Given the description of an element on the screen output the (x, y) to click on. 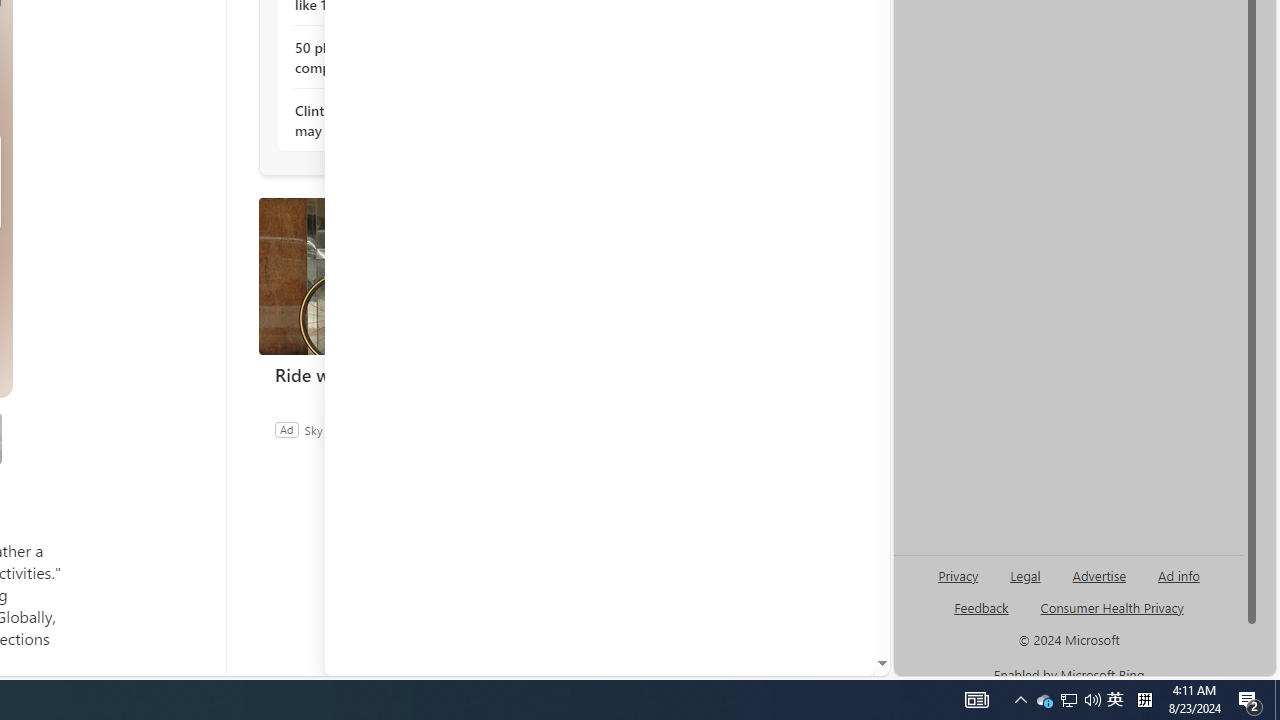
Sky Blue Bikes (341, 429)
Clint Eastwood: The life story you may not know (403, 120)
Ride with Experts (407, 374)
Ride with Experts (408, 276)
AutomationID: sb_feedback (980, 607)
Ad Choice (535, 429)
AutomationID: genId96 (981, 615)
50 photos that show companionship in the animal kingdom (403, 57)
Ad (286, 429)
Feedback (798, 659)
